Given the description of an element on the screen output the (x, y) to click on. 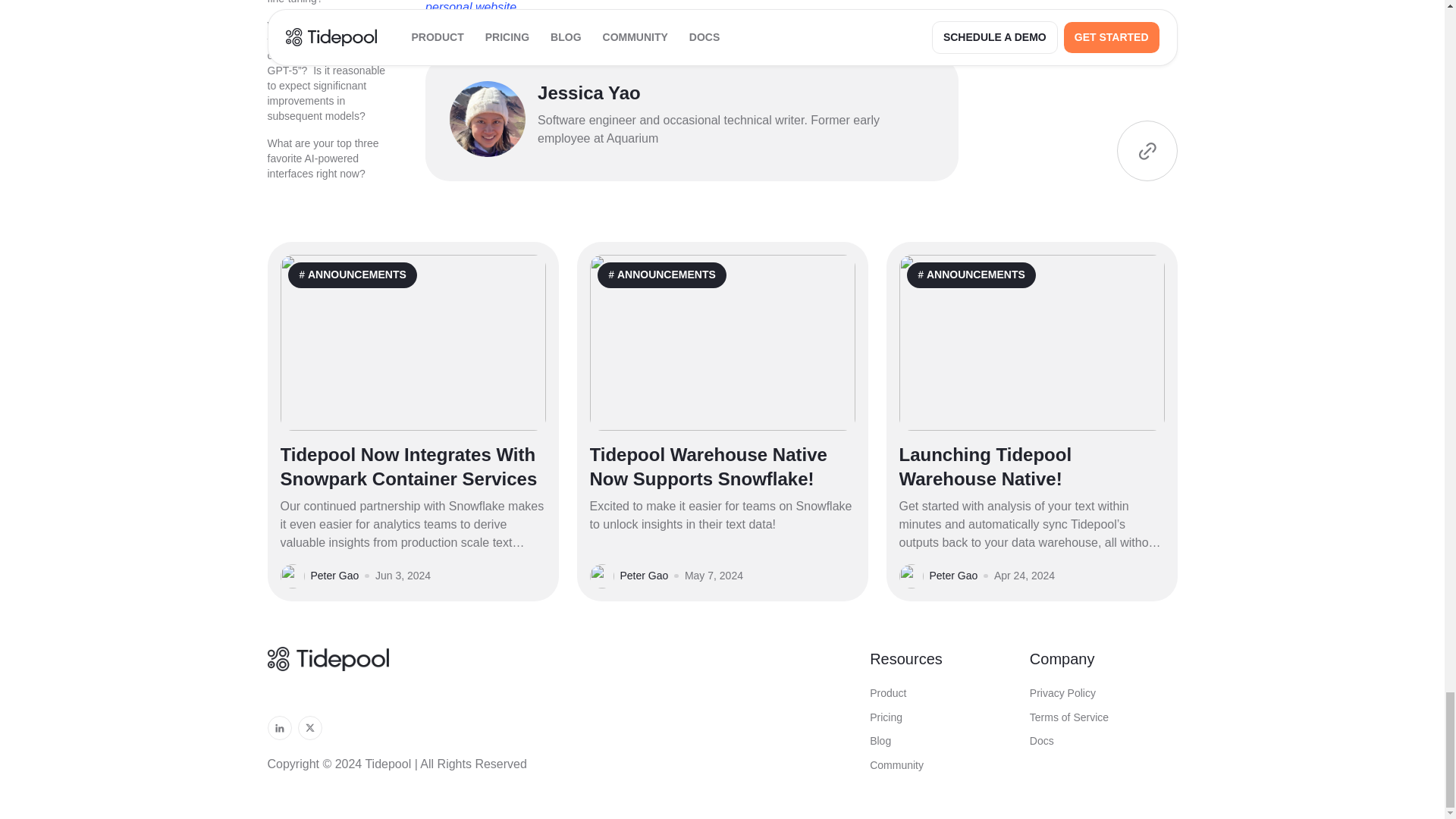
Blog (943, 741)
personal website (470, 8)
Docs (1103, 741)
Privacy Policy (1103, 693)
Terms of Service (1103, 717)
Pricing (943, 717)
Community (943, 765)
Product (943, 693)
